Given the description of an element on the screen output the (x, y) to click on. 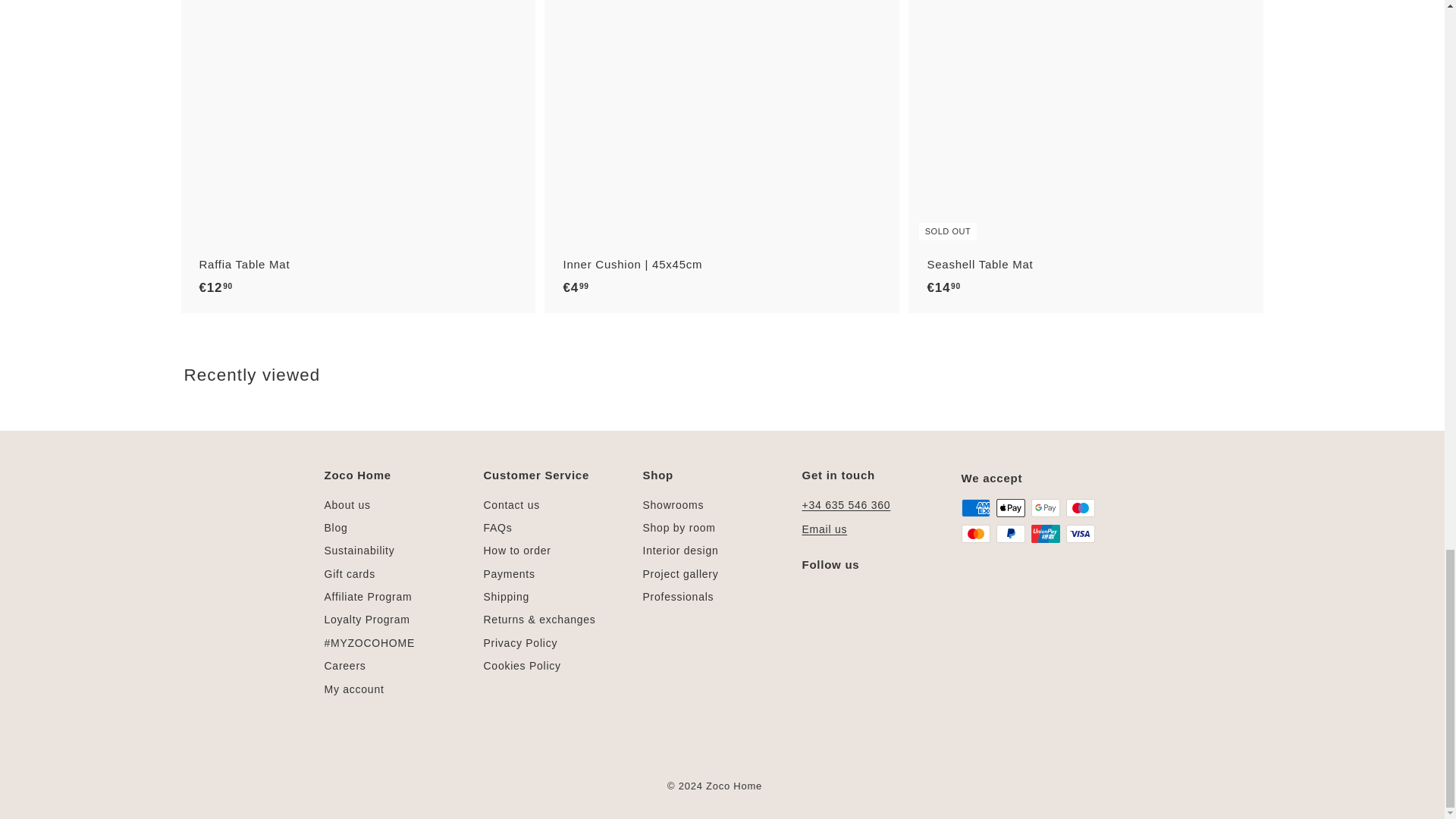
Maestro (1079, 507)
Union Pay (1044, 533)
PayPal (1010, 533)
American Express (975, 507)
Apple Pay (1010, 507)
Visa (1079, 533)
Google Pay (1044, 507)
Mastercard (975, 533)
